Given the description of an element on the screen output the (x, y) to click on. 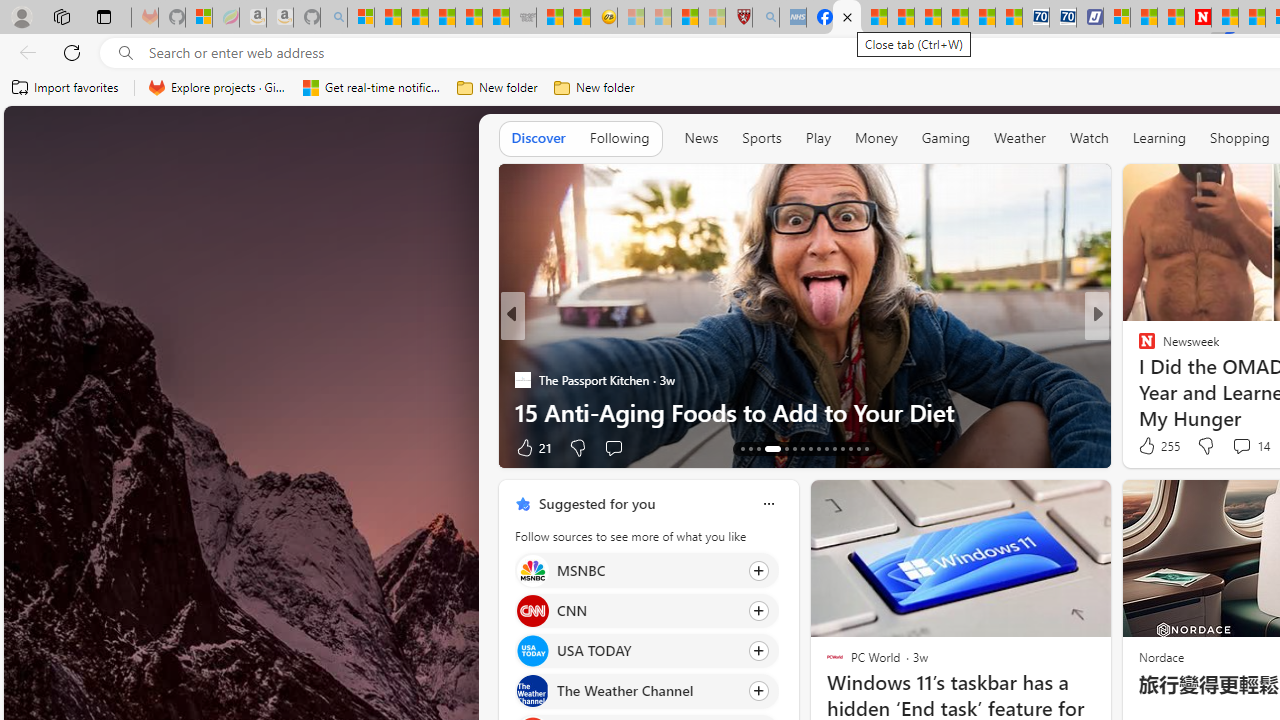
Constative (1138, 347)
12 Popular Science Lies that Must be Corrected - Sleeping (711, 17)
View comments 24 Comment (1234, 447)
View comments 23 Comment (1244, 447)
Click to follow source CNN (646, 610)
317 Like (1151, 447)
AutomationID: tab-77 (842, 448)
Search icon (125, 53)
View comments 228 Comment (1228, 447)
Skyler Mattress (1170, 380)
